Given the description of an element on the screen output the (x, y) to click on. 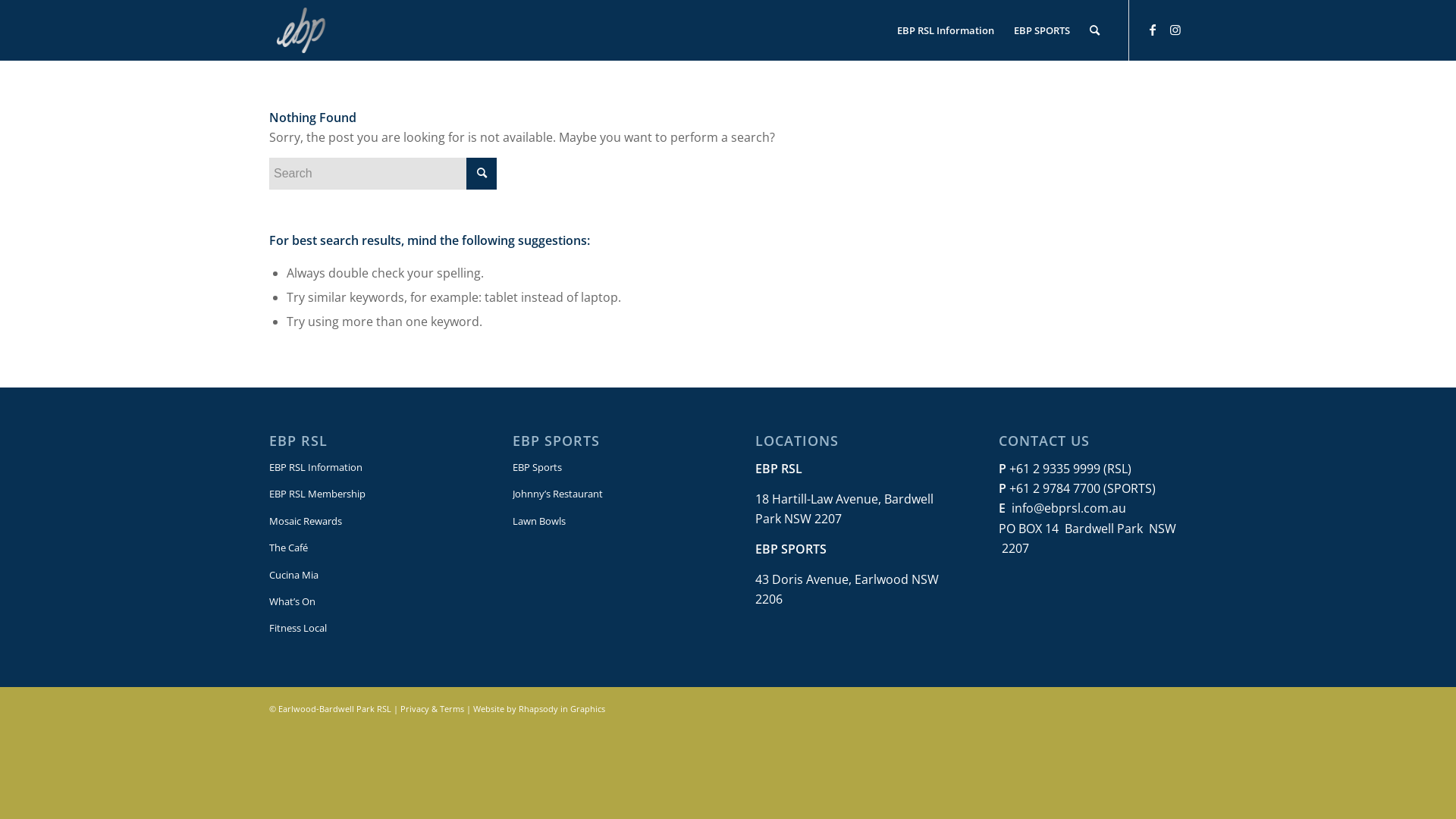
EBP Sports Element type: text (606, 467)
Privacy & Terms Element type: text (432, 708)
Rhapsody in Graphics Element type: text (561, 708)
EBP RSL Information Element type: text (363, 467)
EBP RSL Information Element type: text (945, 30)
EBP RSL Membership Element type: text (363, 493)
Lawn Bowls Element type: text (606, 521)
Mosaic Rewards Element type: text (363, 521)
info@ebprsl.com.au Element type: text (1068, 507)
Facebook Element type: hover (1152, 29)
Fitness Local Element type: text (363, 628)
Instagram Element type: hover (1175, 29)
EBP SPORTS Element type: text (1041, 30)
Cucina Mia Element type: text (363, 574)
